Given the description of an element on the screen output the (x, y) to click on. 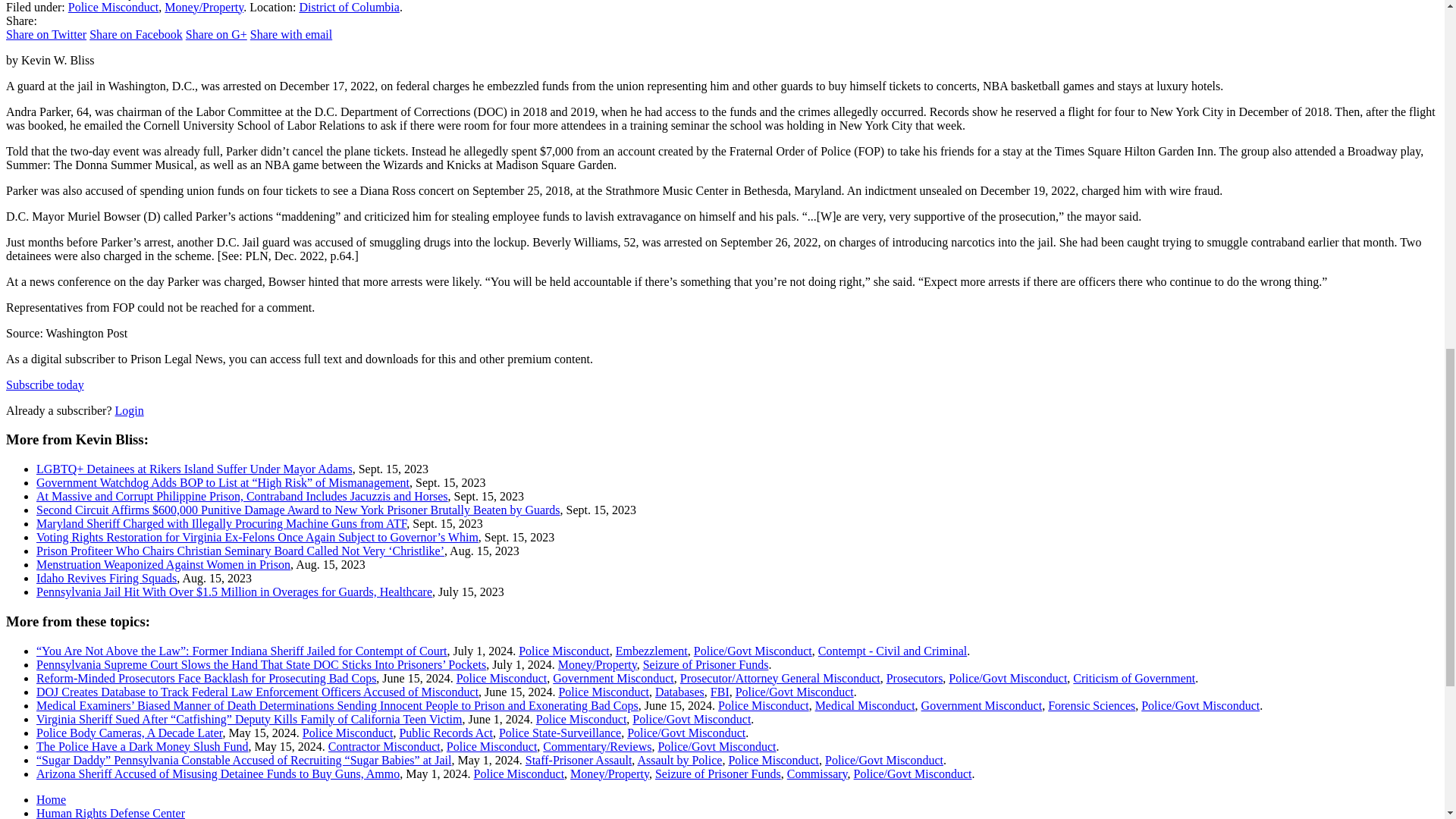
Share on Facebook (135, 33)
Police Misconduct (113, 6)
Share with email (290, 33)
Share on Twitter (45, 33)
